Given the description of an element on the screen output the (x, y) to click on. 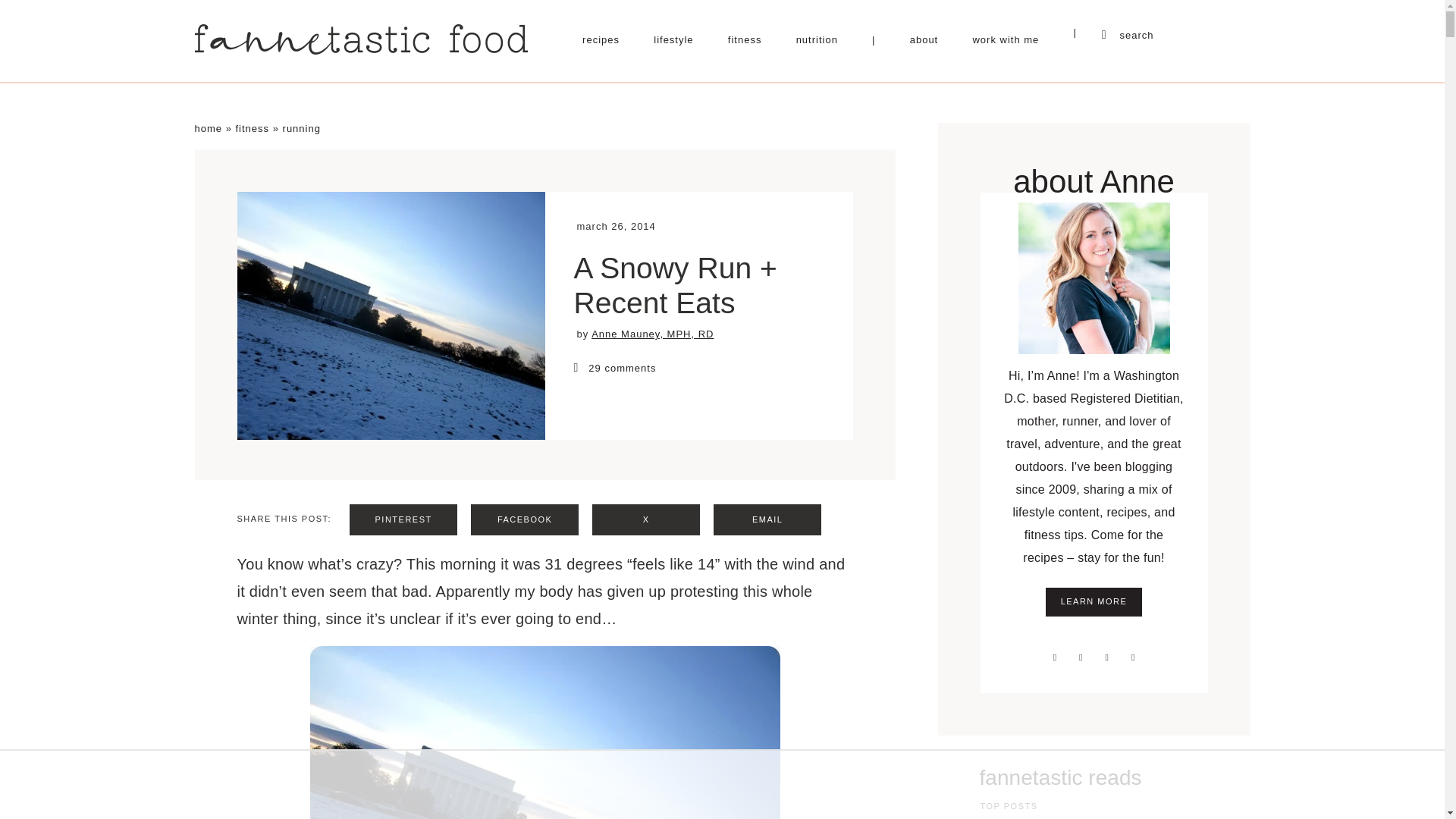
home (207, 128)
FACEBOOK (524, 519)
fitness (251, 128)
nutrition (817, 39)
X (646, 519)
fitness (744, 39)
about (924, 39)
Anne Mauney, MPH, RD (652, 333)
recipes (601, 39)
29 comments (698, 367)
work with me (1005, 39)
EMAIL (767, 519)
lifestyle (673, 39)
running (301, 128)
